Given the description of an element on the screen output the (x, y) to click on. 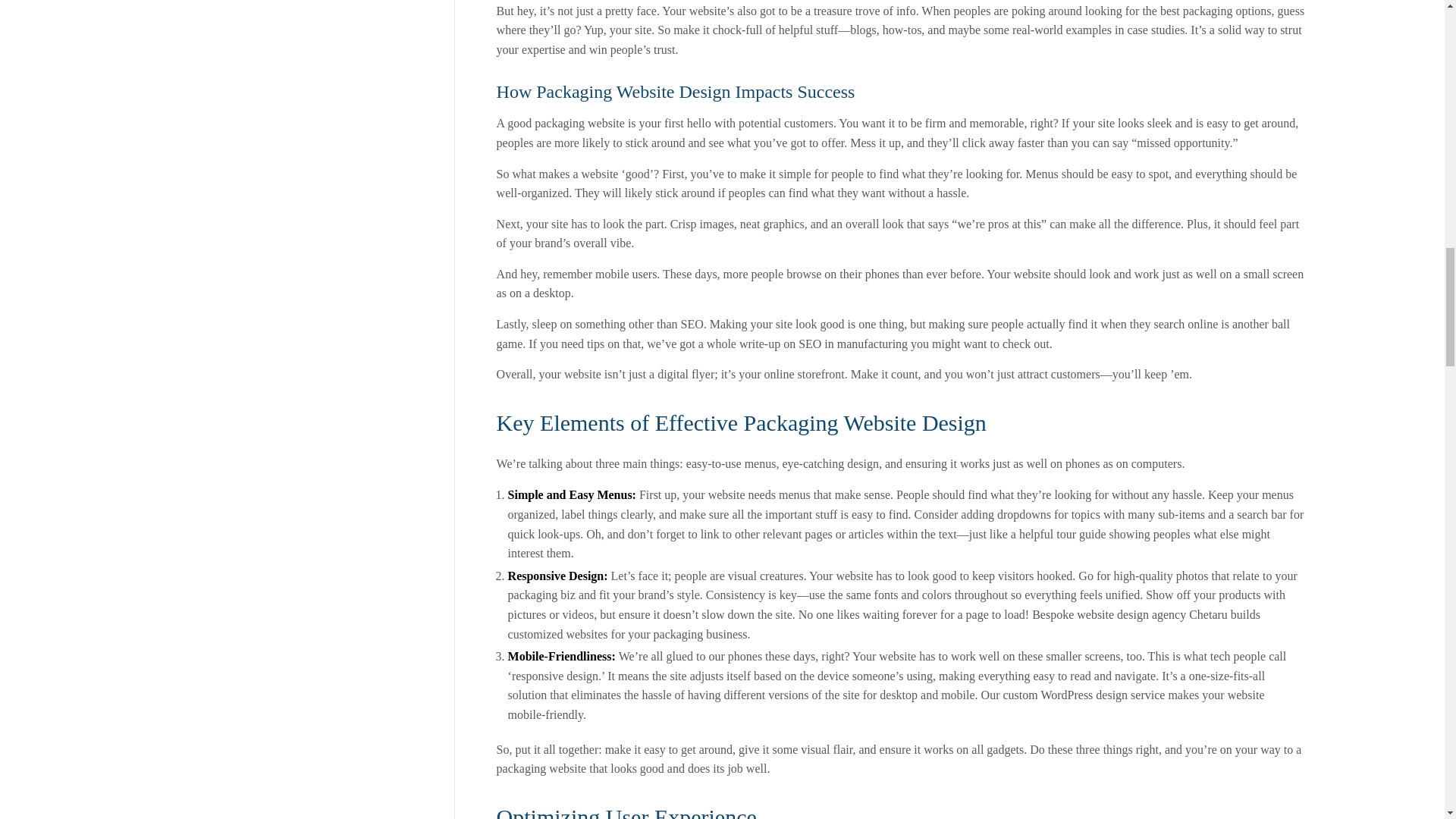
custom WordPress design service (1083, 694)
SEO in manufacturing (852, 343)
Bespoke website design agency (1109, 614)
